Given the description of an element on the screen output the (x, y) to click on. 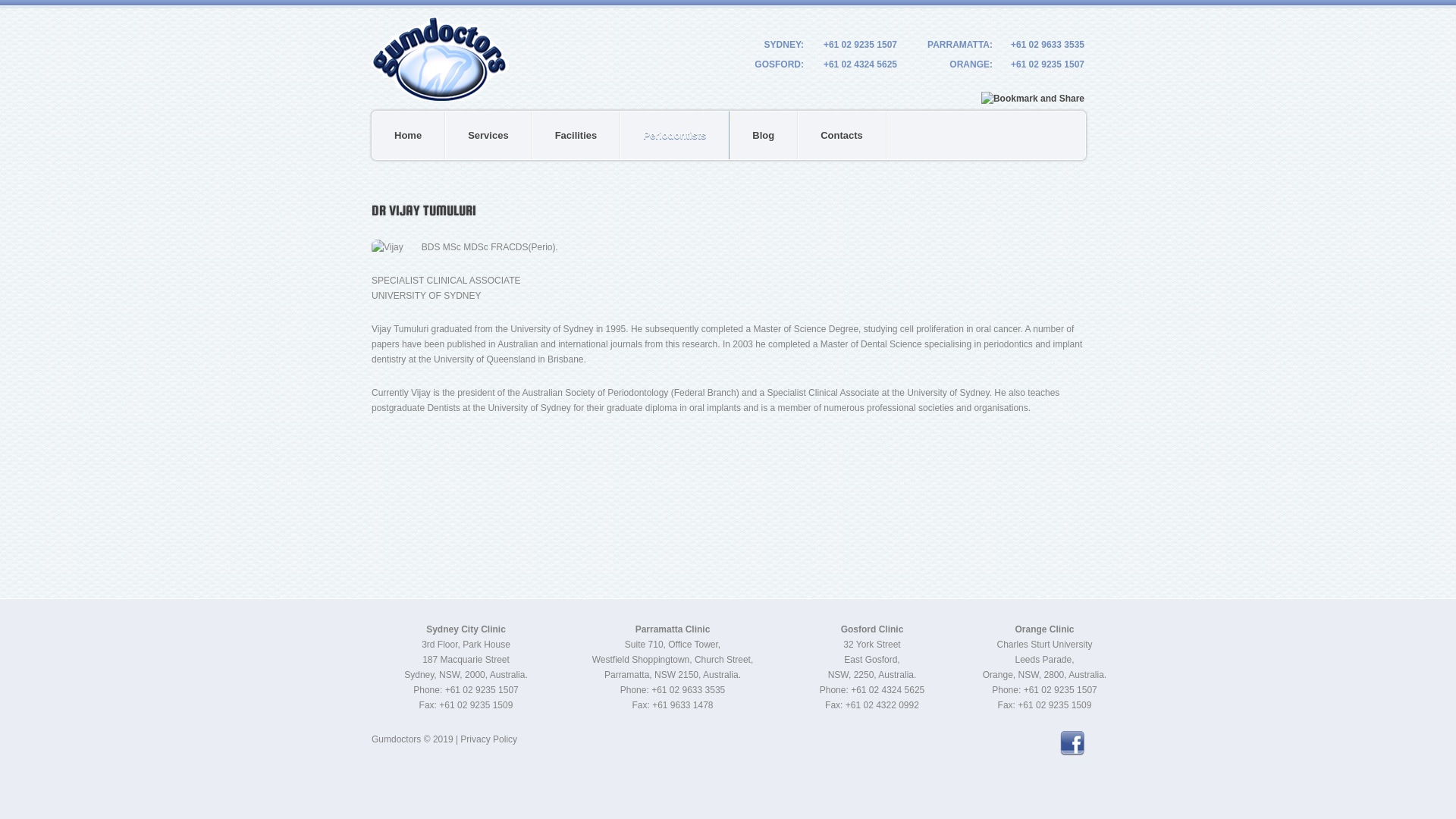
Facilities Element type: text (577, 135)
Periodontists Element type: text (675, 135)
Home Element type: text (408, 135)
Blog Element type: text (763, 135)
Services Element type: text (488, 135)
Privacy Policy Element type: text (488, 739)
Follow us on Facebook Element type: hover (1072, 743)
